Given the description of an element on the screen output the (x, y) to click on. 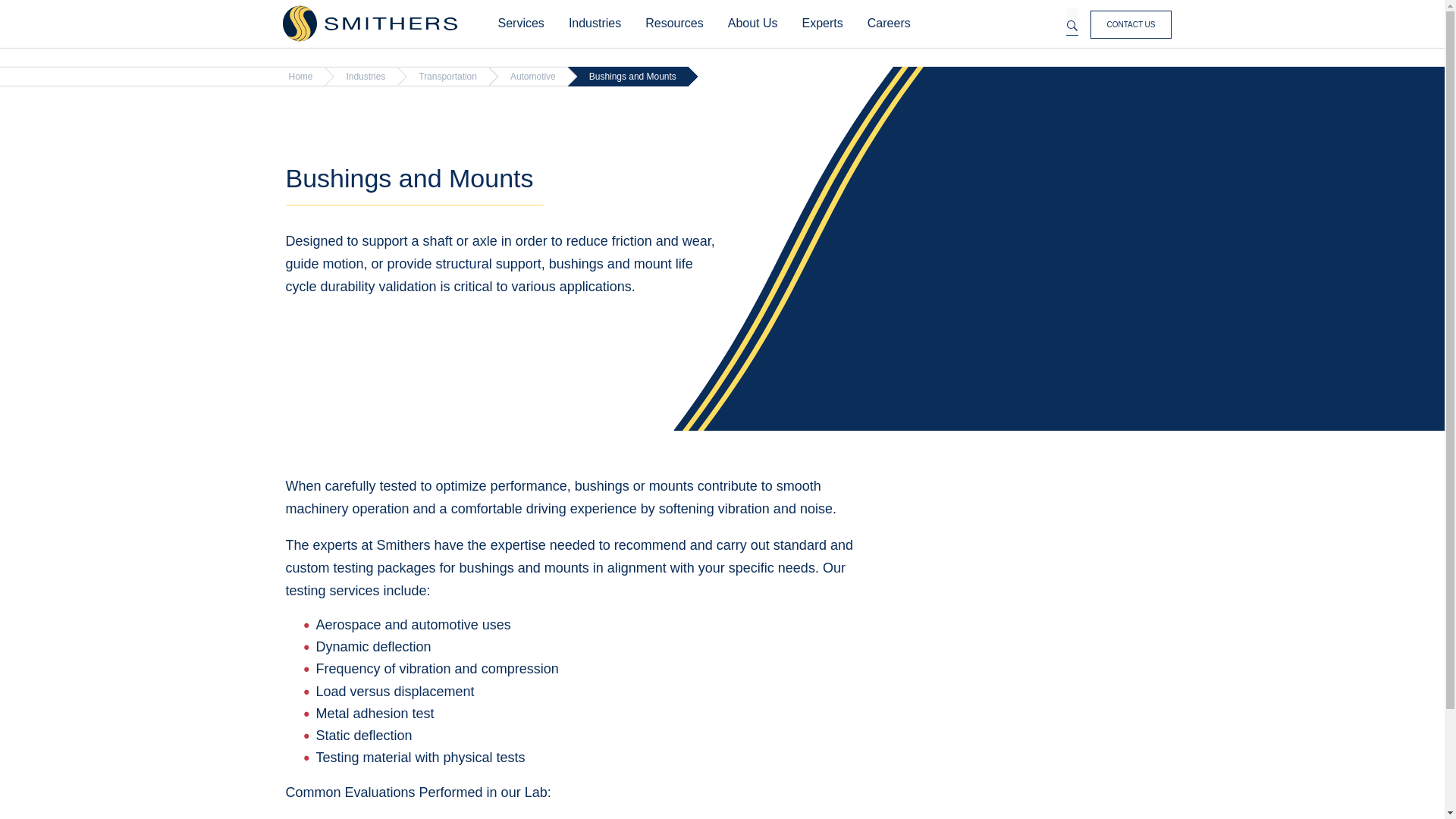
Home (369, 23)
Services (521, 23)
Industries (594, 23)
